Given the description of an element on the screen output the (x, y) to click on. 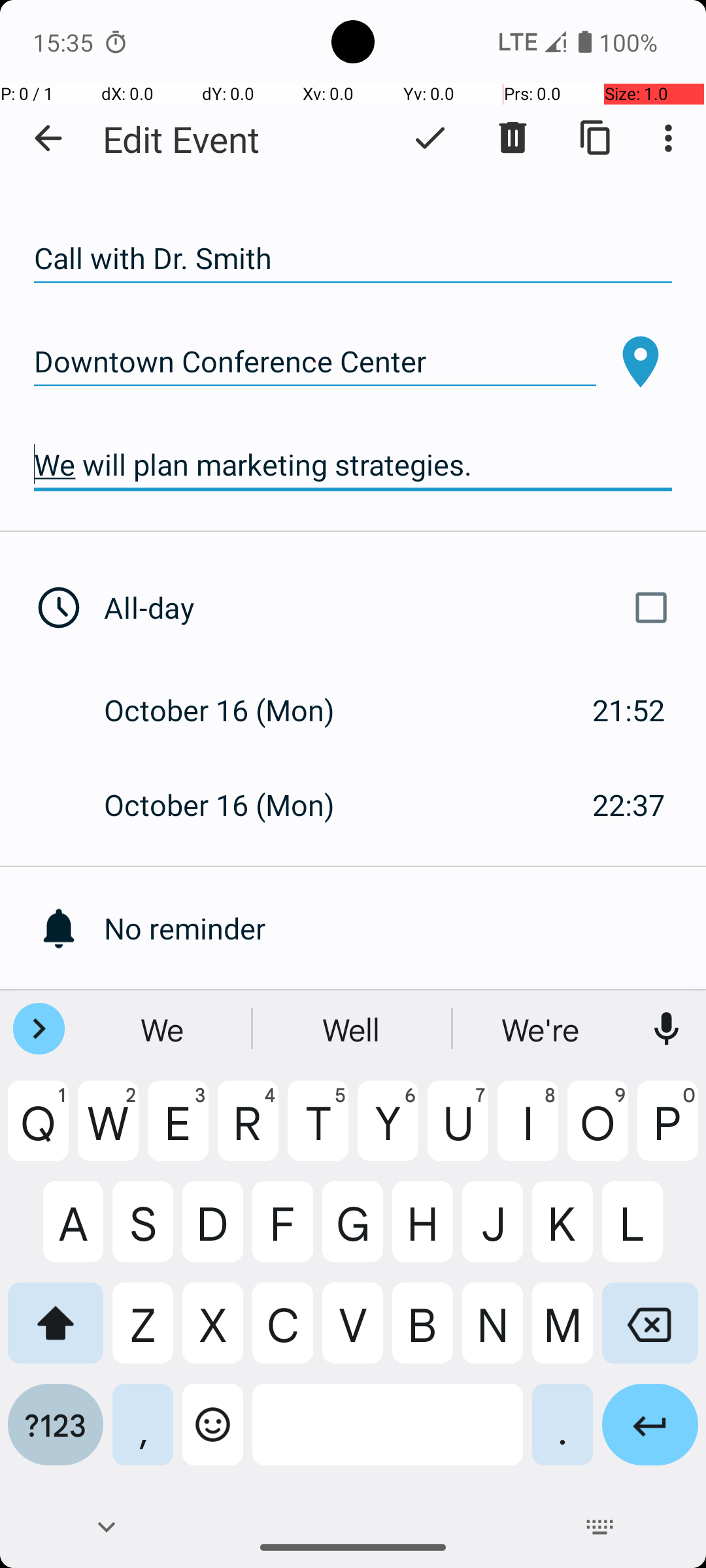
Downtown Conference Center Element type: android.widget.EditText (314, 361)
We will plan marketing strategies. Element type: android.widget.EditText (352, 465)
21:52 Element type: android.widget.TextView (628, 709)
22:37 Element type: android.widget.TextView (628, 804)
We Element type: android.widget.FrameLayout (163, 1028)
Well Element type: android.widget.FrameLayout (352, 1028)
We're Element type: android.widget.FrameLayout (541, 1028)
